Given the description of an element on the screen output the (x, y) to click on. 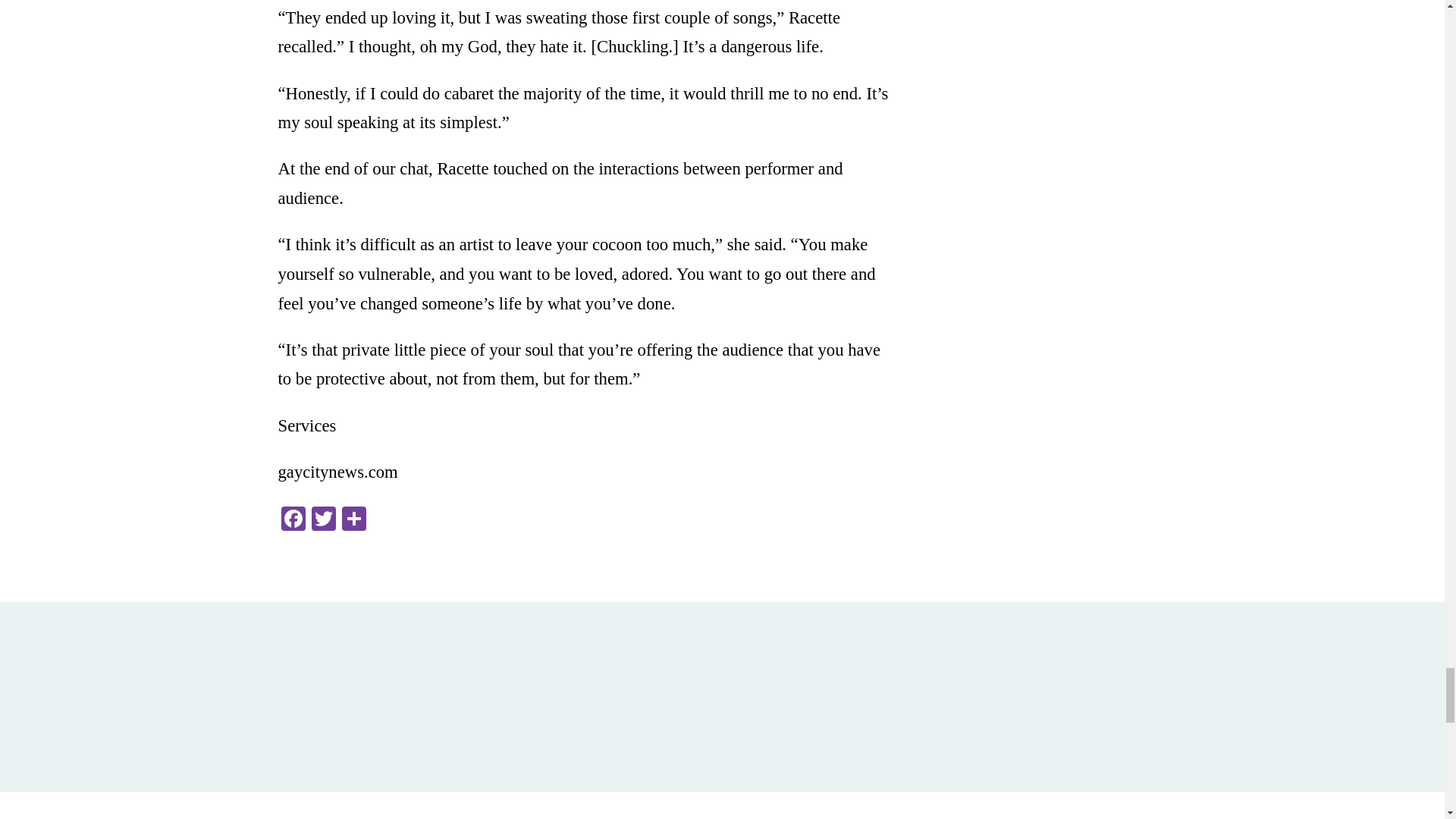
Facebook (292, 520)
